Given the description of an element on the screen output the (x, y) to click on. 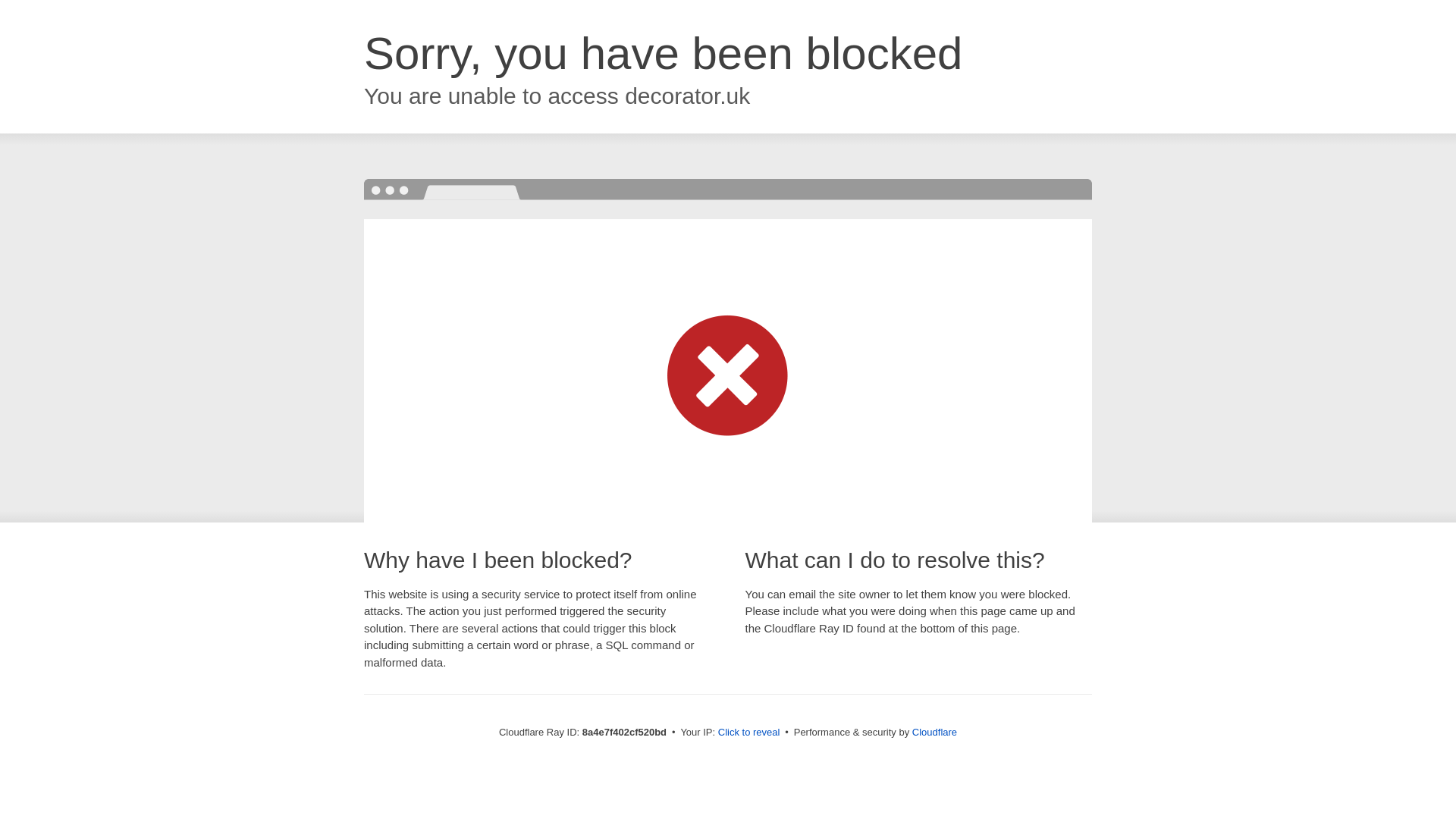
Cloudflare (934, 731)
Click to reveal (748, 732)
